Given the description of an element on the screen output the (x, y) to click on. 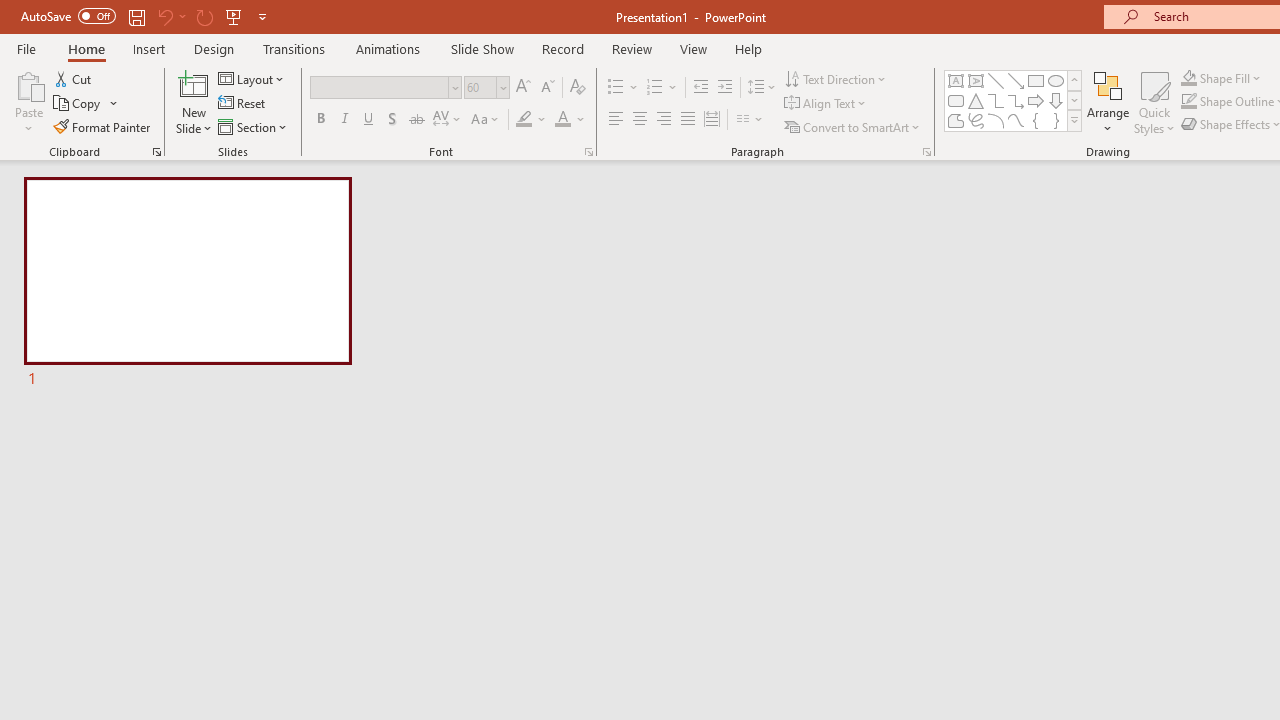
Connector: Elbow (995, 100)
Home (86, 48)
Section (254, 126)
Vertical Text Box (975, 80)
Distributed (712, 119)
Paste (28, 84)
Line (995, 80)
Animations (388, 48)
Open (502, 87)
Font Color Red (562, 119)
Help (748, 48)
Bullets (616, 87)
Paragraph... (926, 151)
